Given the description of an element on the screen output the (x, y) to click on. 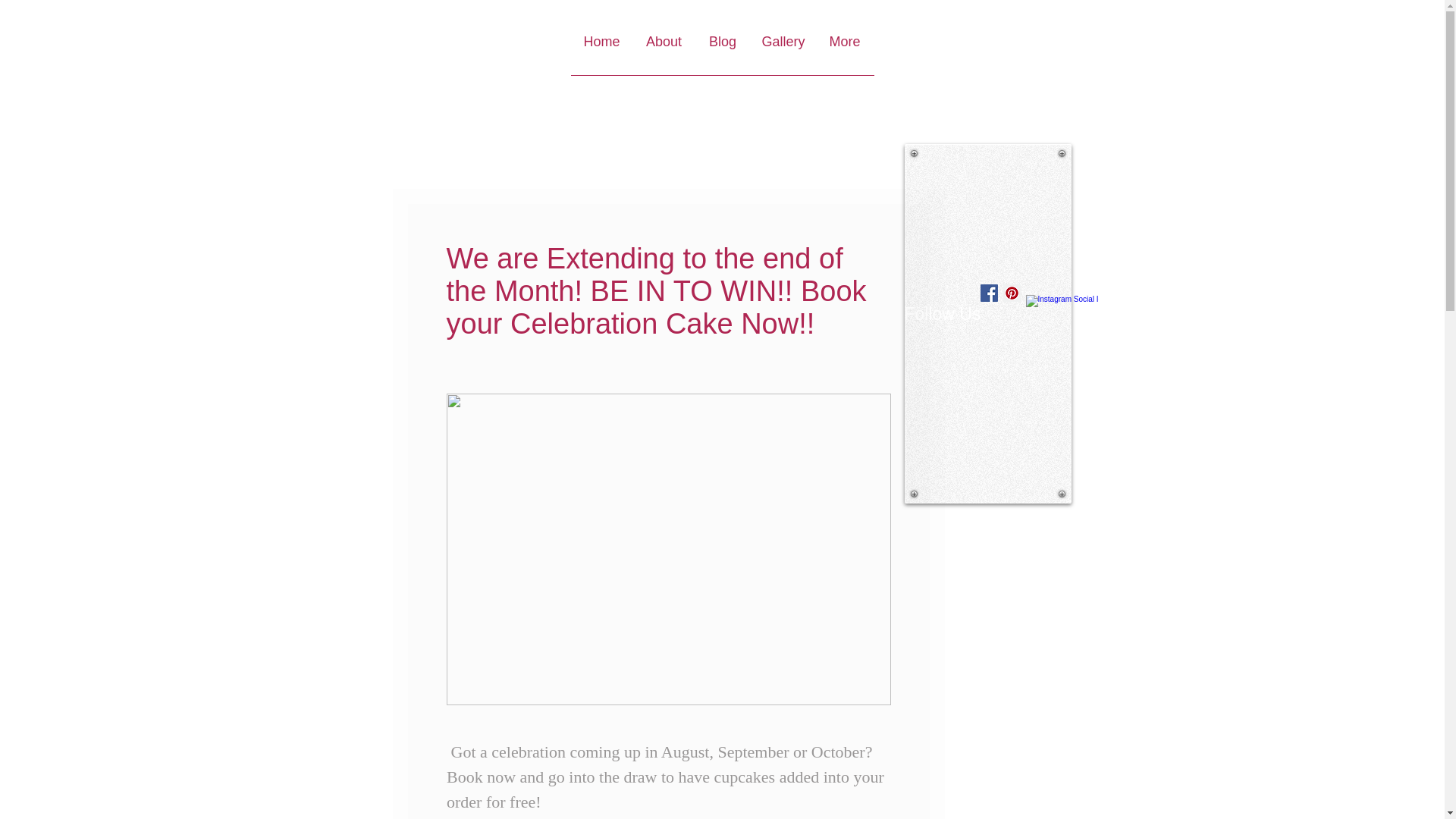
Home (600, 47)
Blog (721, 47)
